Given the description of an element on the screen output the (x, y) to click on. 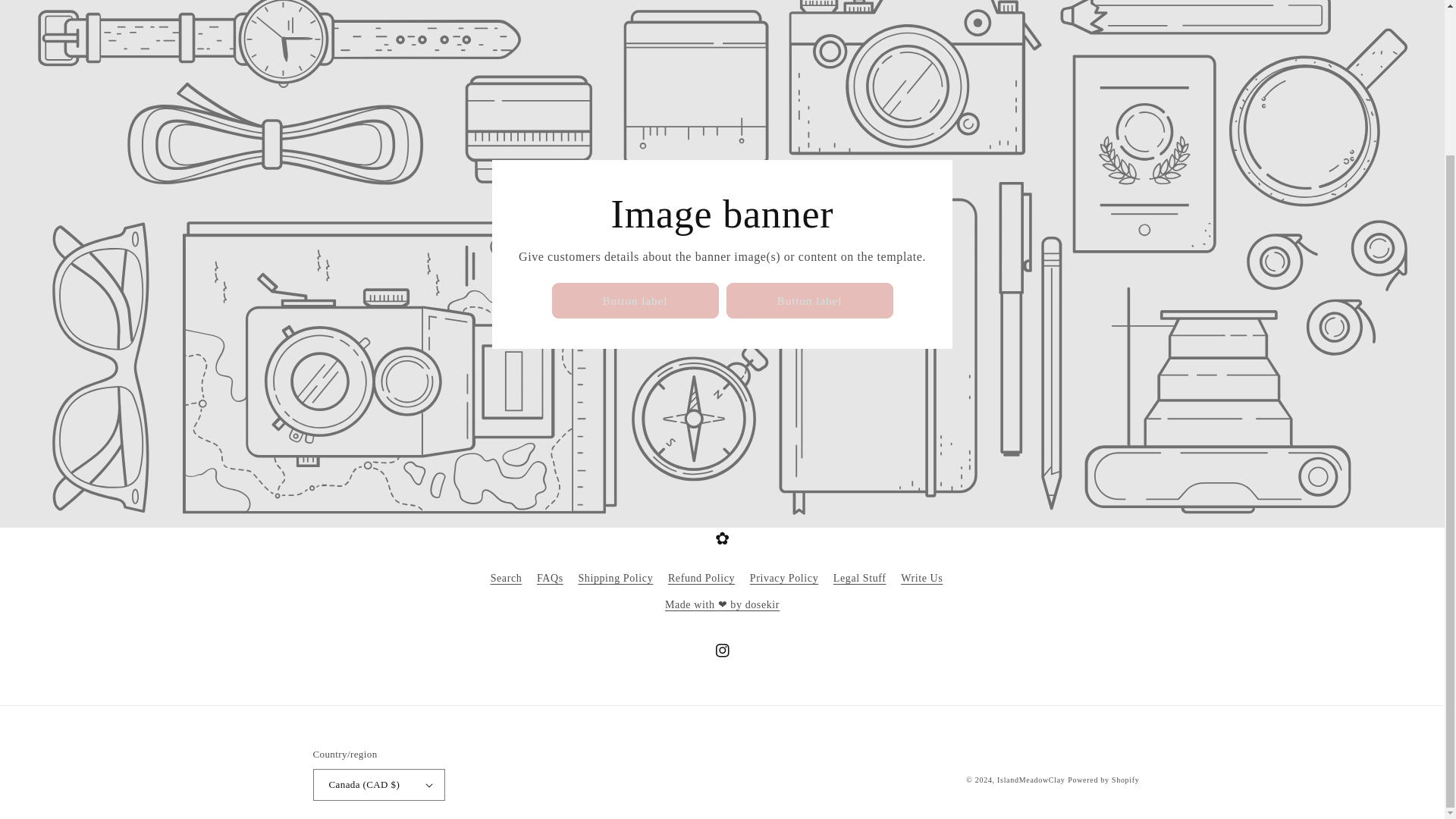
Refund Policy (701, 578)
Search (506, 579)
IslandMeadowClay (1031, 779)
Powered by Shopify (1102, 779)
Button label (809, 300)
Legal Stuff (859, 578)
Privacy Policy (783, 578)
Button label (635, 300)
Instagram (721, 650)
FAQs (550, 578)
